Given the description of an element on the screen output the (x, y) to click on. 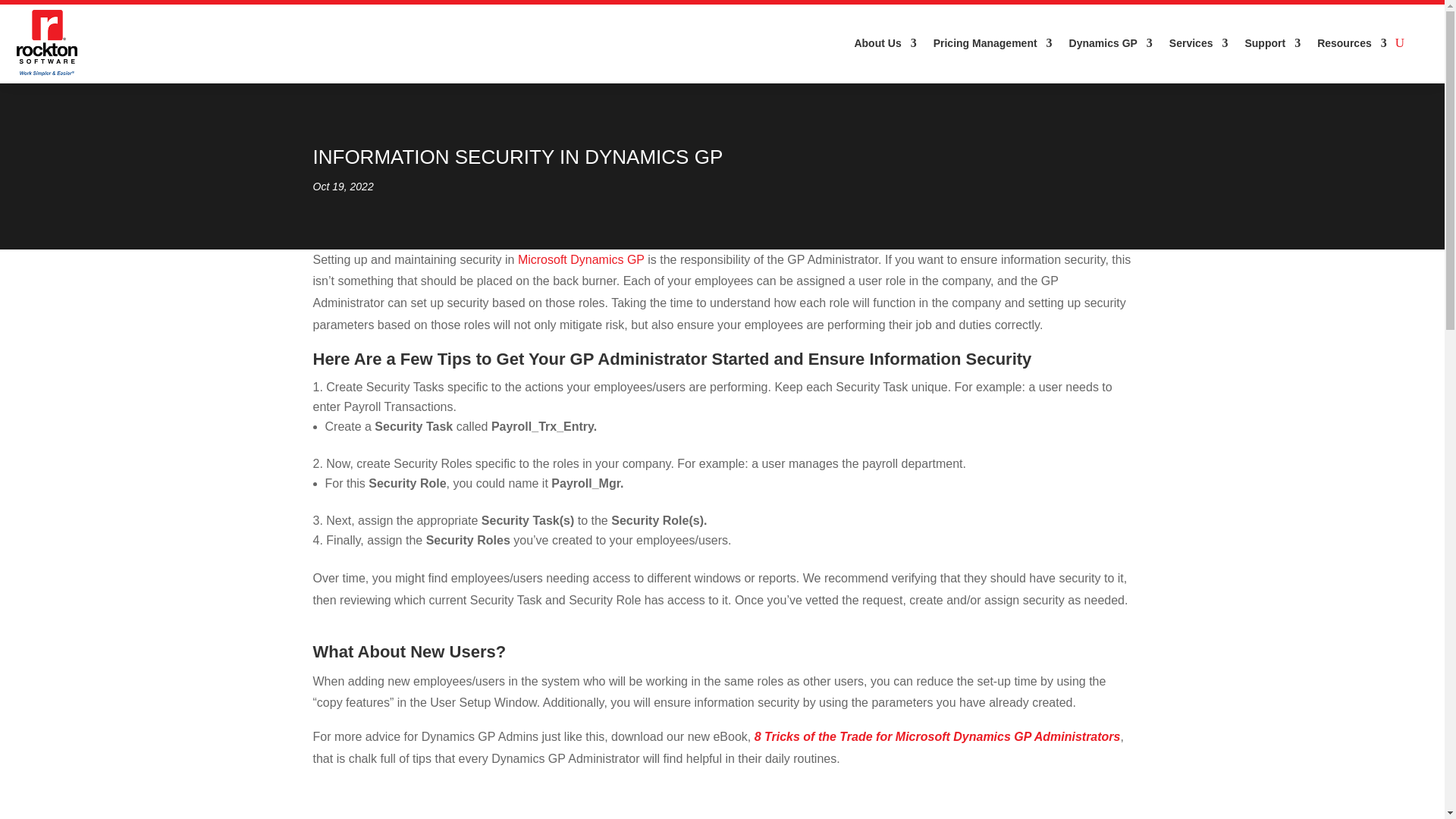
Dynamics GP (1110, 42)
Pricing Management (992, 42)
About Us (884, 42)
Services (1198, 42)
